Given the description of an element on the screen output the (x, y) to click on. 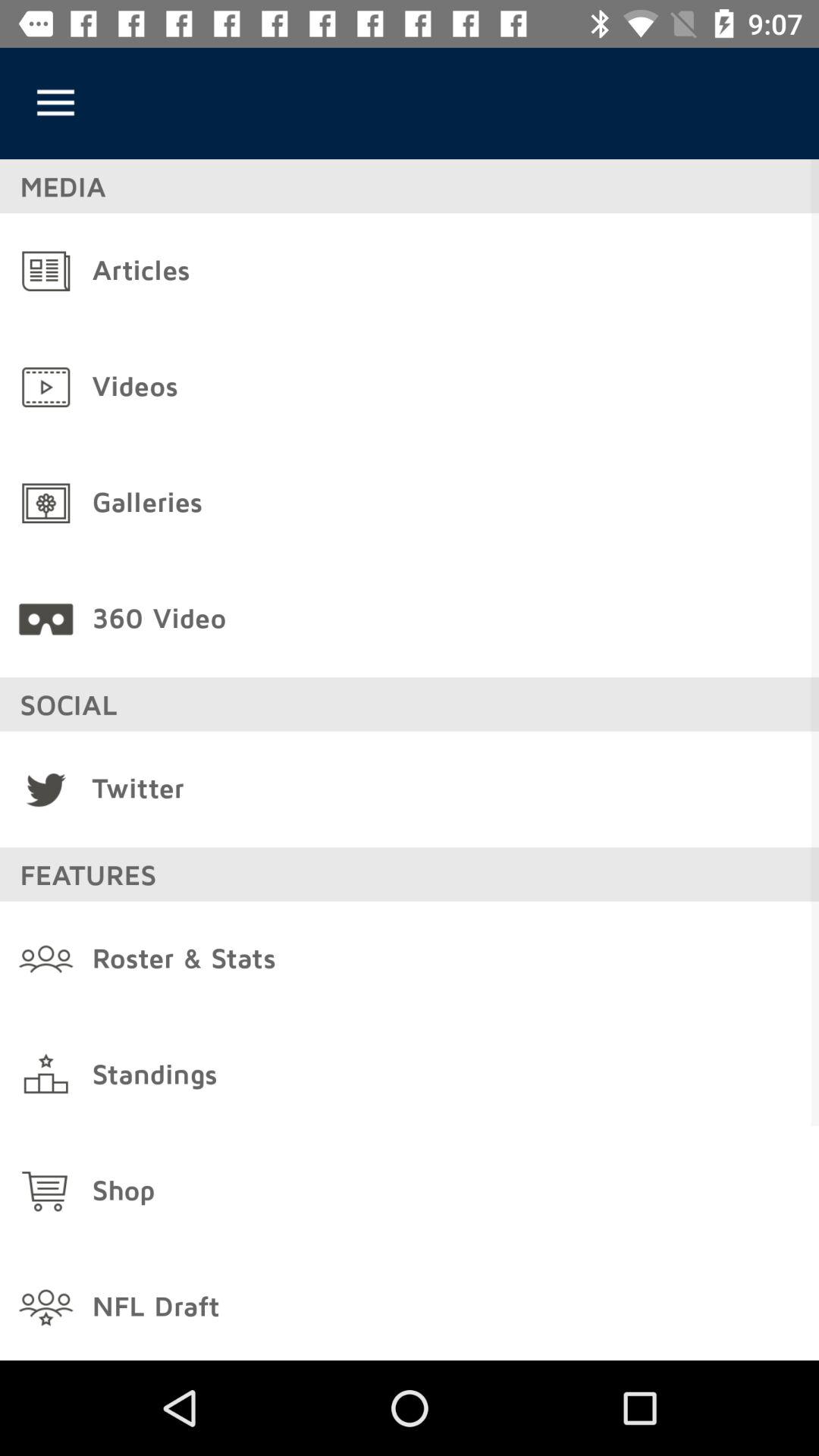
click on the icon left to nfl draft (45, 1307)
click on the second icon under media (45, 387)
click the twitter icon on the web page (45, 789)
click on the icon left to roster  stats (45, 959)
select the icon on left to the standings button on the web page (45, 1074)
click on the twitter icon (45, 789)
